Given the description of an element on the screen output the (x, y) to click on. 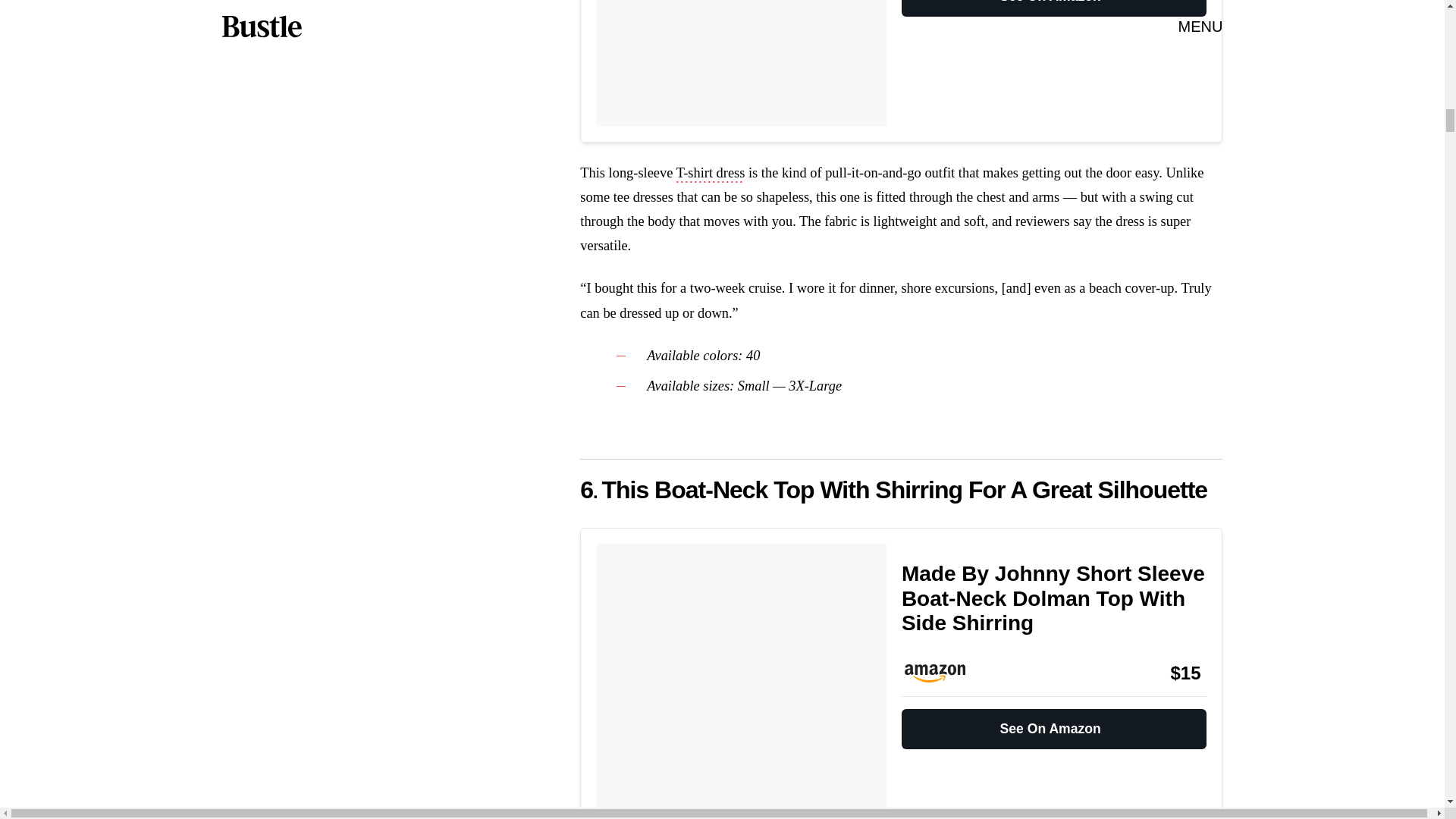
See On Amazon (1054, 722)
Amazon (941, 673)
See On Amazon (1054, 8)
T-shirt dress (711, 174)
